Given the description of an element on the screen output the (x, y) to click on. 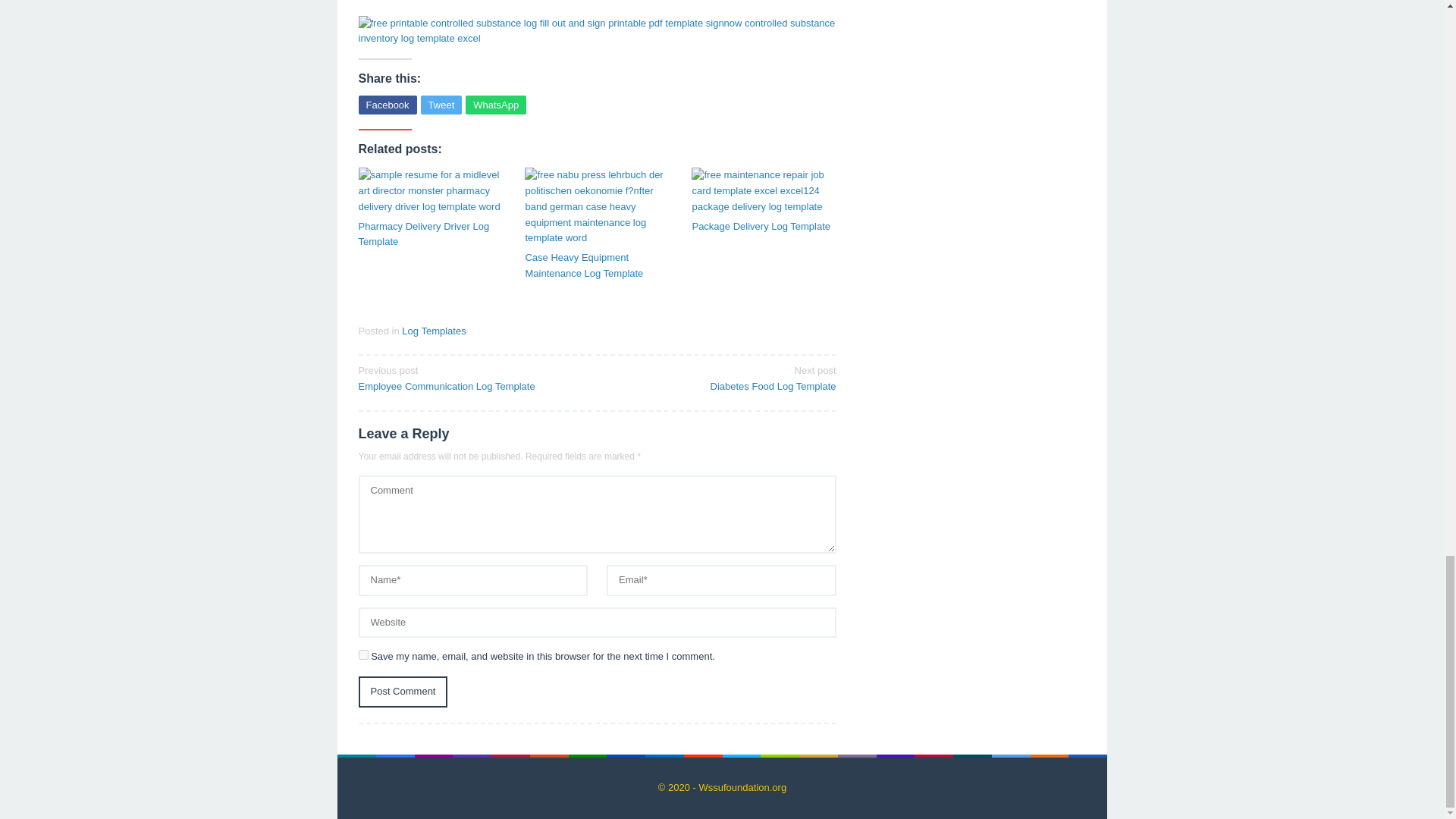
Permalink to: Case Heavy Equipment Maintenance Log Template (596, 265)
Package Delivery Log Template (763, 227)
WhatsApp this (495, 104)
Permalink to: Pharmacy Delivery Driver Log Template (430, 190)
Post Comment (402, 691)
Share this (721, 377)
Pharmacy Delivery Driver Log Template (387, 104)
Permalink to: Package Delivery Log Template (430, 234)
Permalink to: Pharmacy Delivery Driver Log Template (763, 227)
